Given the description of an element on the screen output the (x, y) to click on. 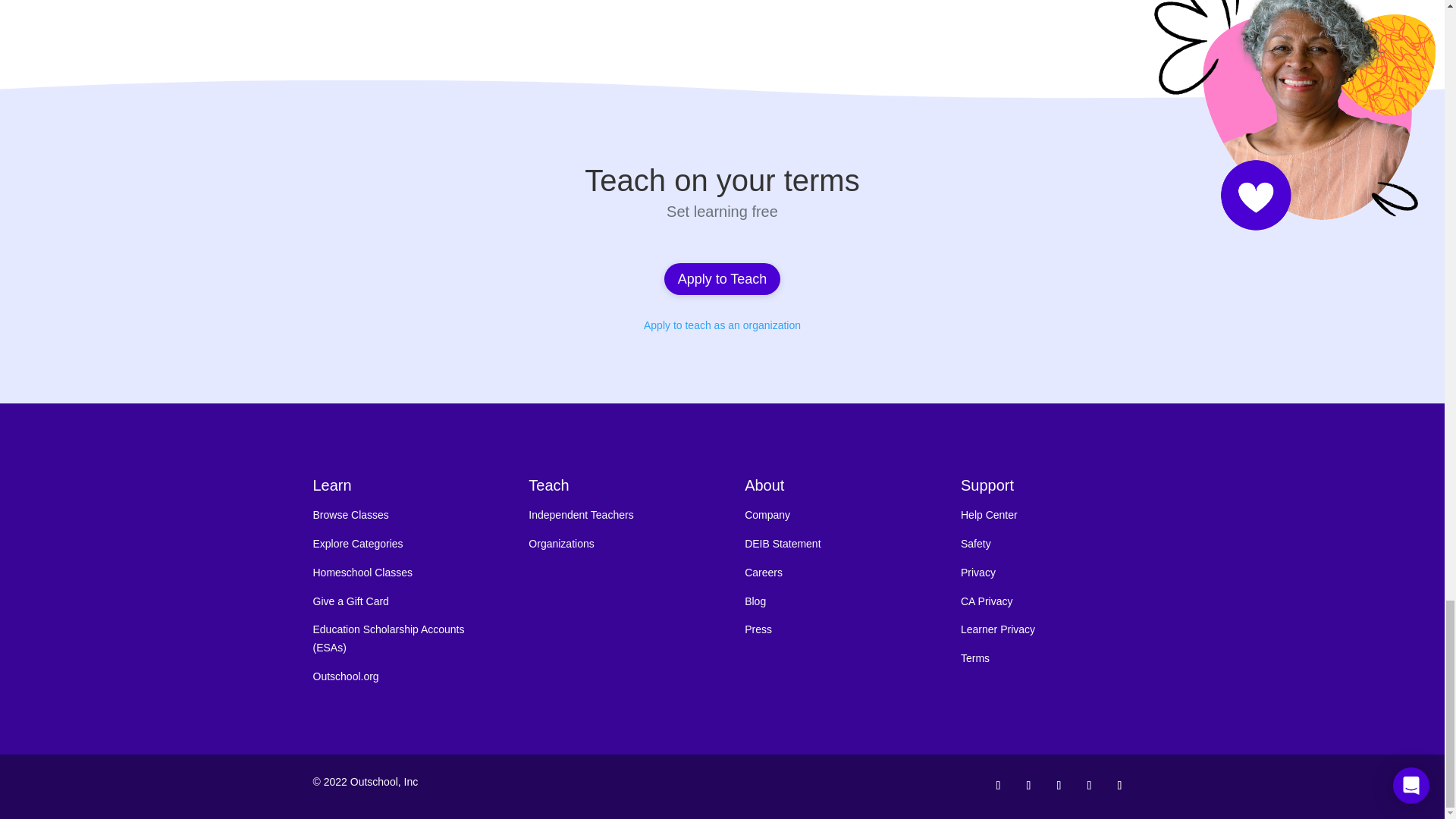
Follow on Facebook (997, 785)
Follow on Instagram (1028, 785)
Follow on Pinterest (1058, 785)
Follow on Youtube (1118, 785)
Follow on X (1088, 785)
